Given the description of an element on the screen output the (x, y) to click on. 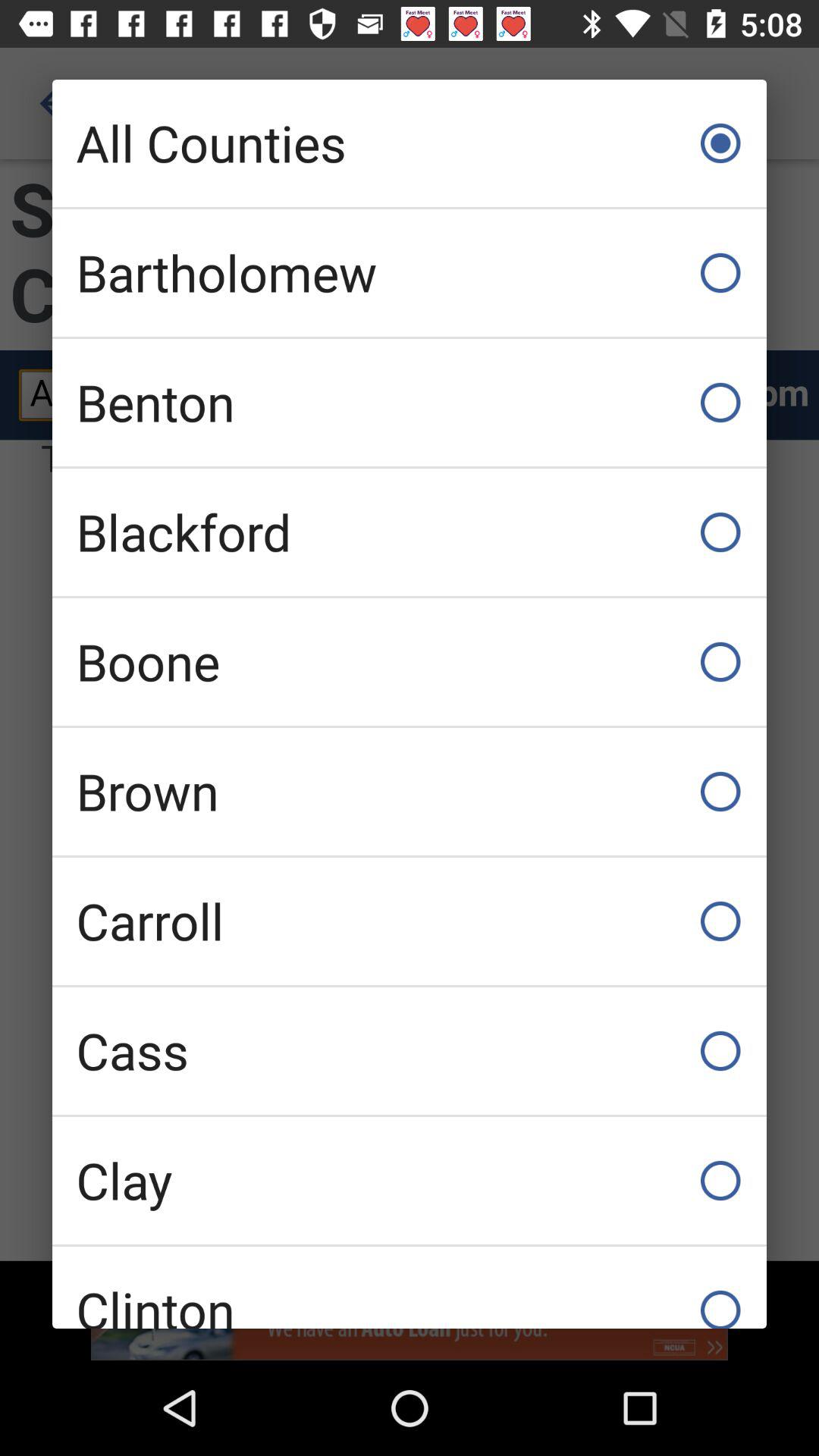
turn on item above bartholomew item (409, 143)
